Given the description of an element on the screen output the (x, y) to click on. 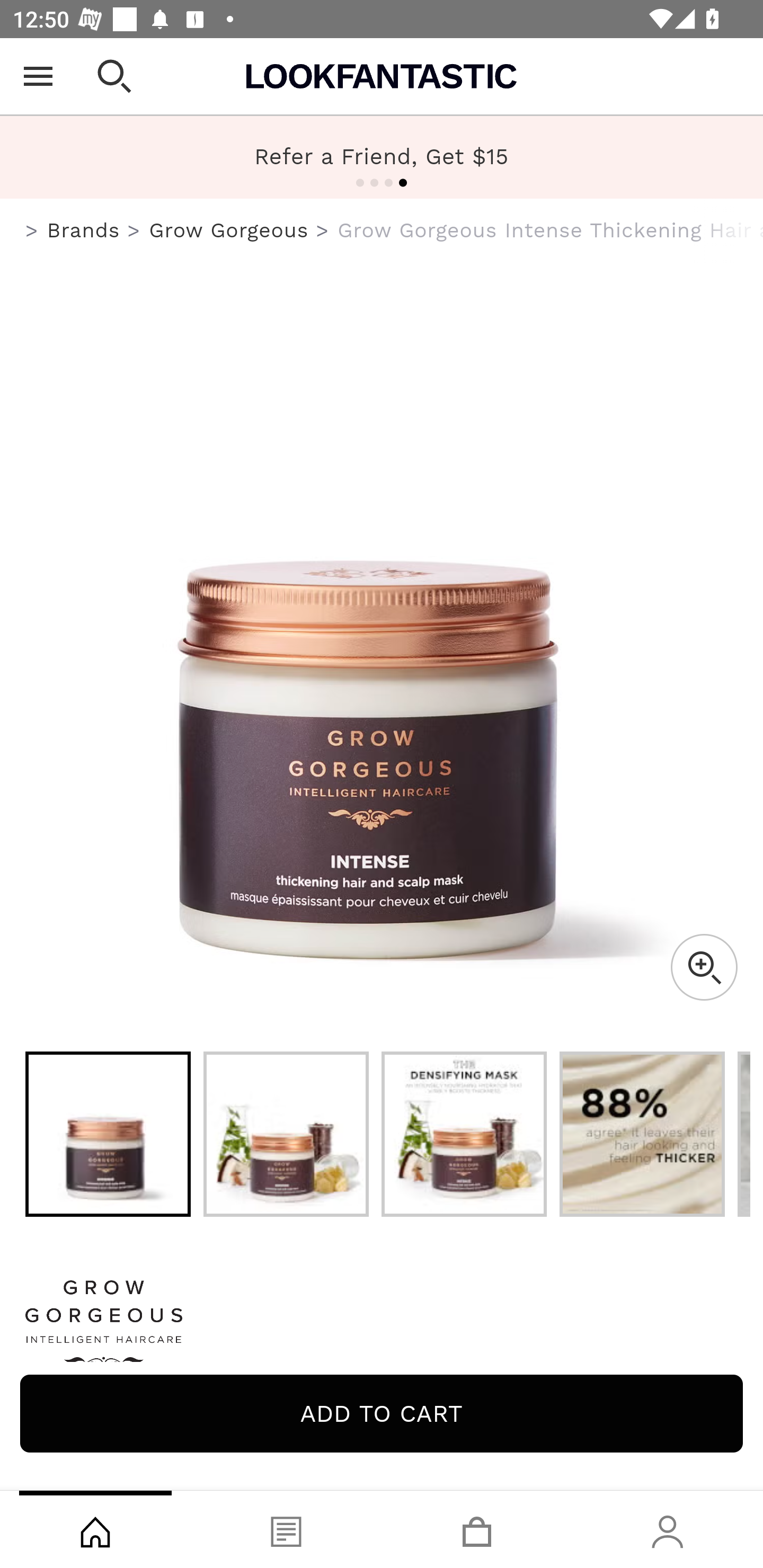
Open Menu (38, 75)
Open search (114, 75)
Lookfantastic USA (381, 75)
us.lookfantastic (32, 230)
Brands (82, 230)
Grow Gorgeous (228, 230)
Zoom (703, 966)
Grow Gorgeous (381, 1327)
Add to cart (381, 1413)
Shop, tab, 1 of 4 (95, 1529)
Blog, tab, 2 of 4 (285, 1529)
Basket, tab, 3 of 4 (476, 1529)
Account, tab, 4 of 4 (667, 1529)
